Given the description of an element on the screen output the (x, y) to click on. 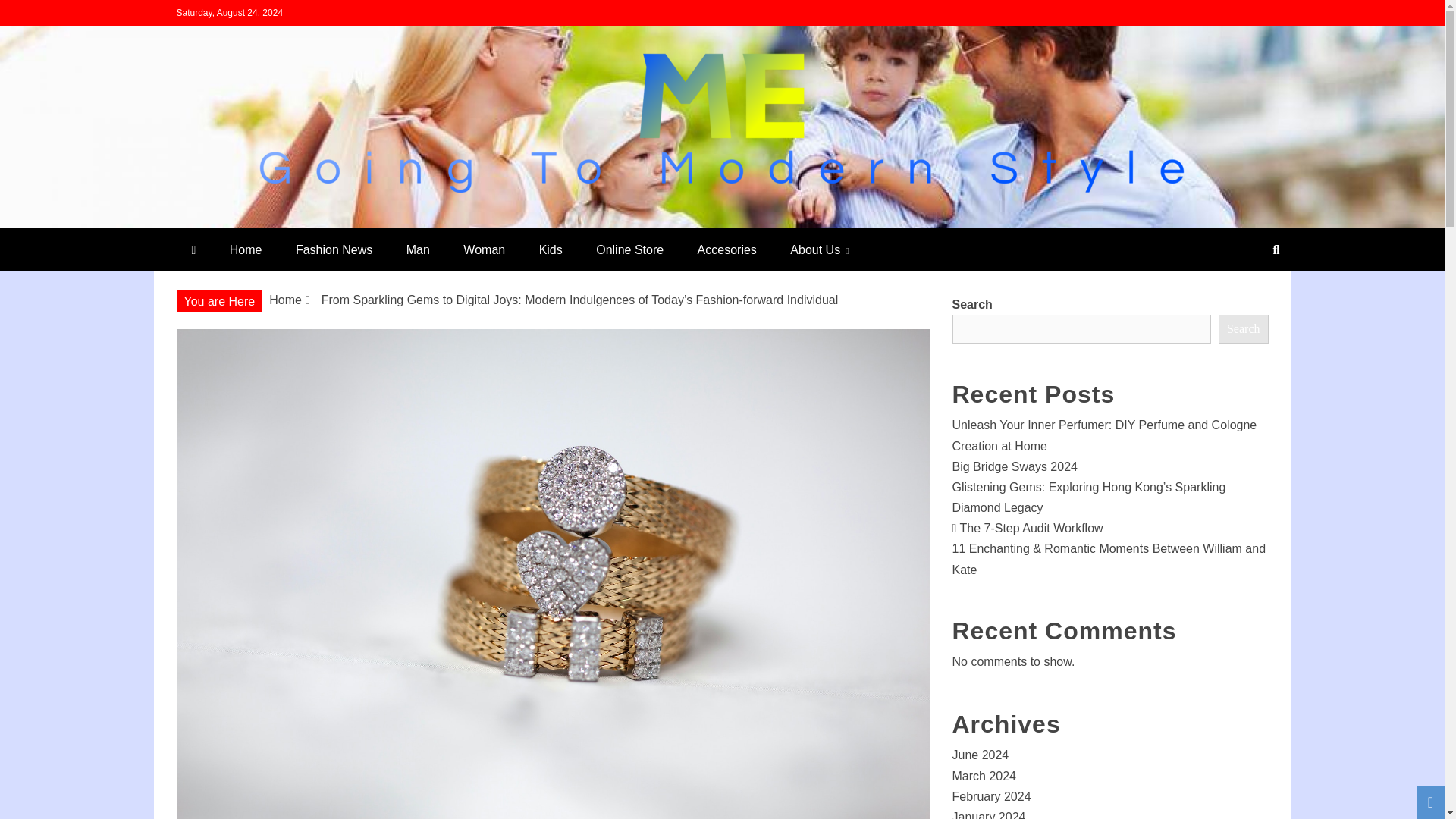
Online Store (629, 249)
Home (246, 249)
About Us (818, 249)
Home (285, 299)
Accesories (726, 249)
Man (418, 249)
Woman (483, 249)
My Style (234, 221)
Kids (551, 249)
Search (31, 13)
